Given the description of an element on the screen output the (x, y) to click on. 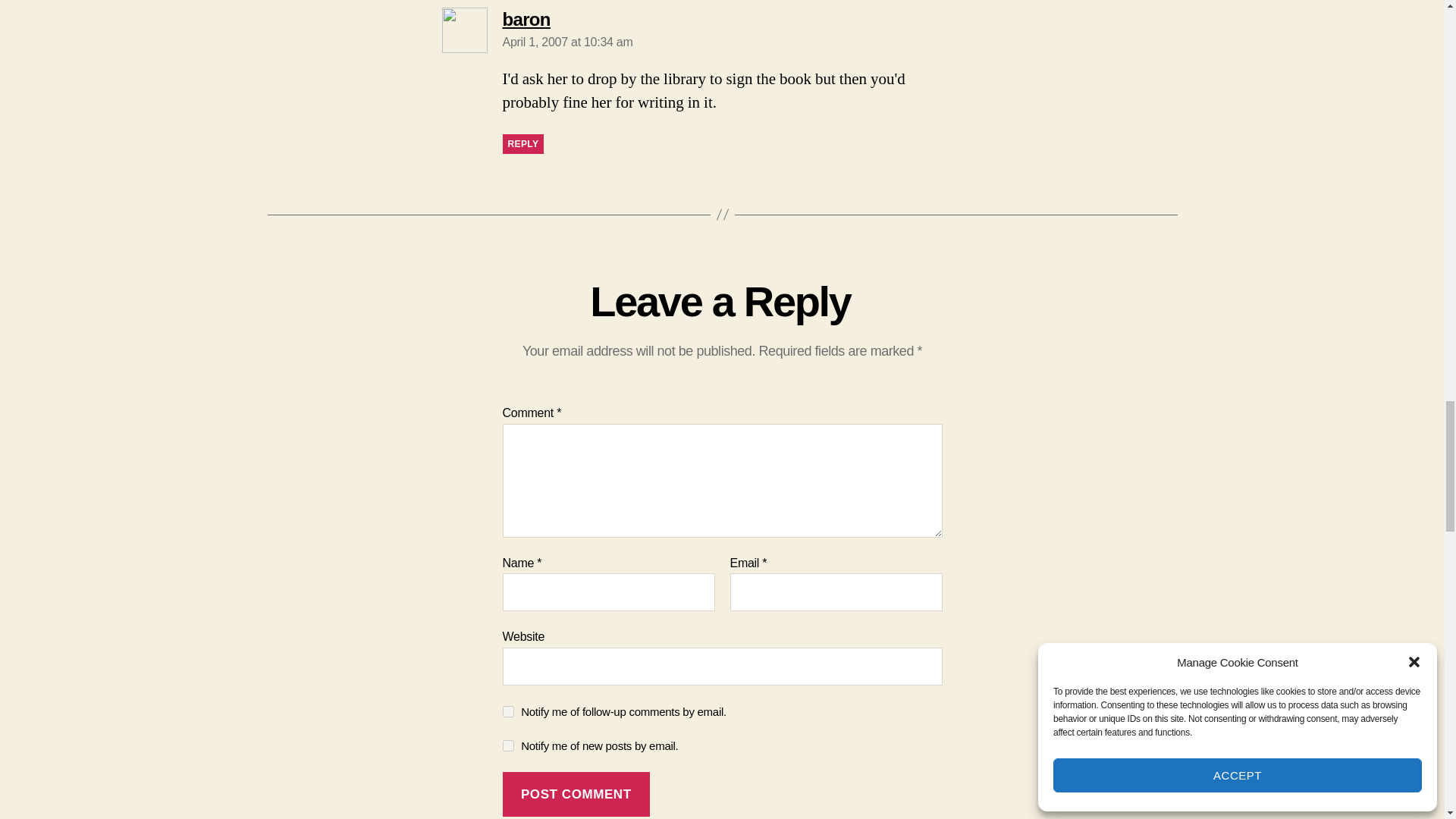
Post Comment (575, 794)
subscribe (507, 745)
REPLY (522, 143)
subscribe (507, 711)
